Given the description of an element on the screen output the (x, y) to click on. 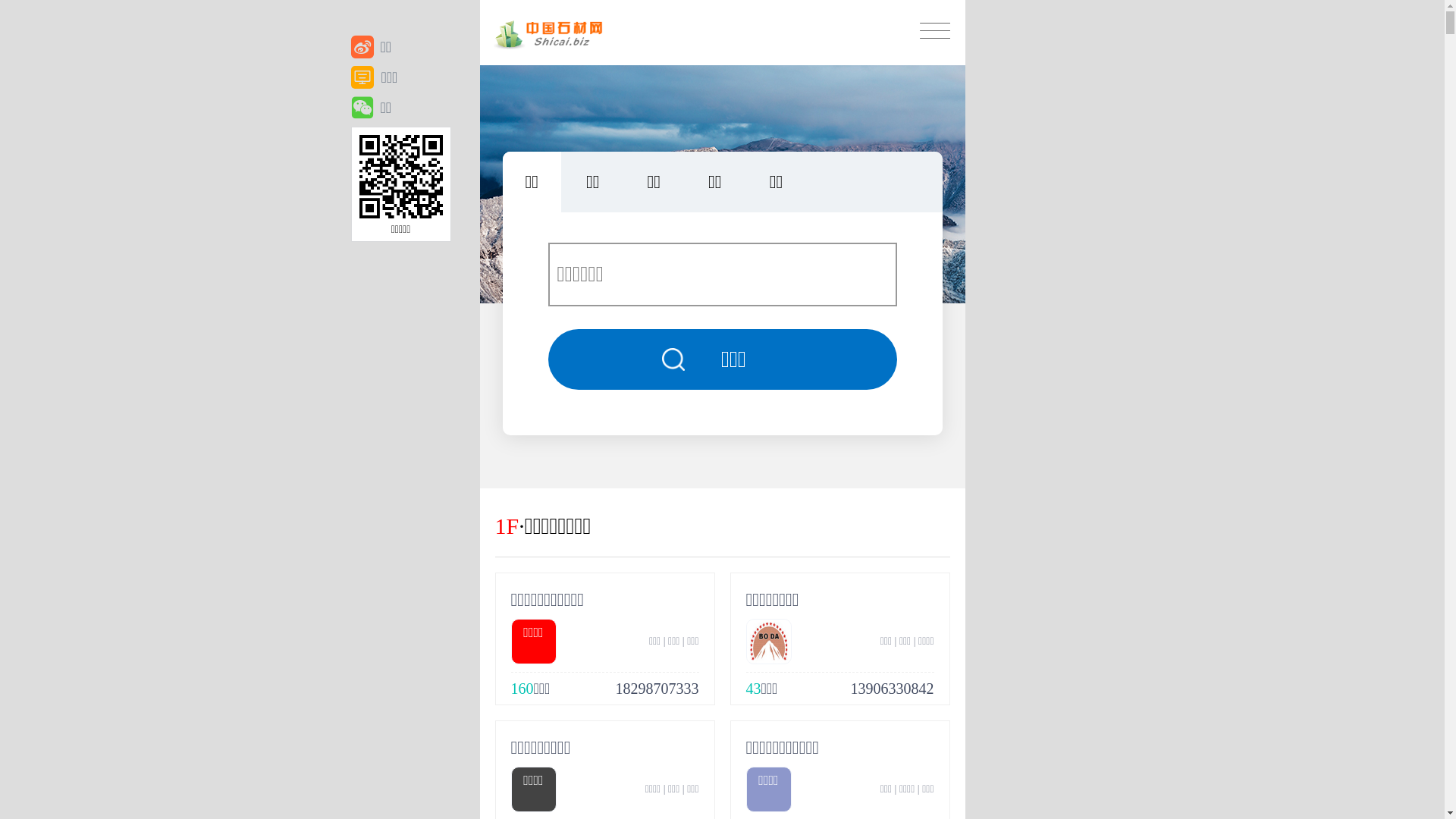
18298707333 Element type: text (657, 688)
13906330842 Element type: text (892, 688)
